Given the description of an element on the screen output the (x, y) to click on. 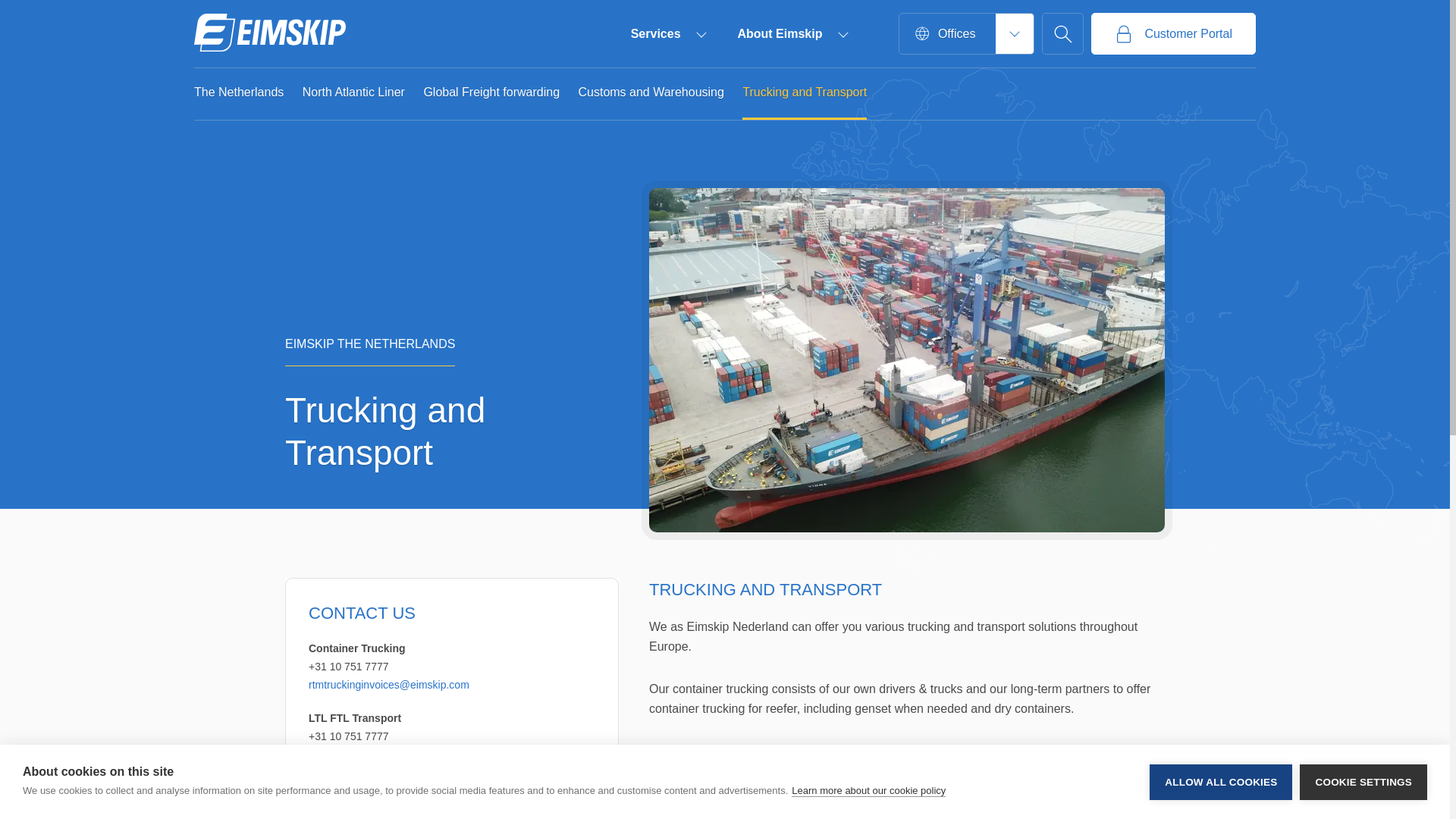
Services (668, 33)
COOKIE SETTINGS (1363, 811)
Go to frontpage (269, 33)
Services (668, 33)
About Eimskip (791, 33)
About Eimskip (791, 33)
